Given the description of an element on the screen output the (x, y) to click on. 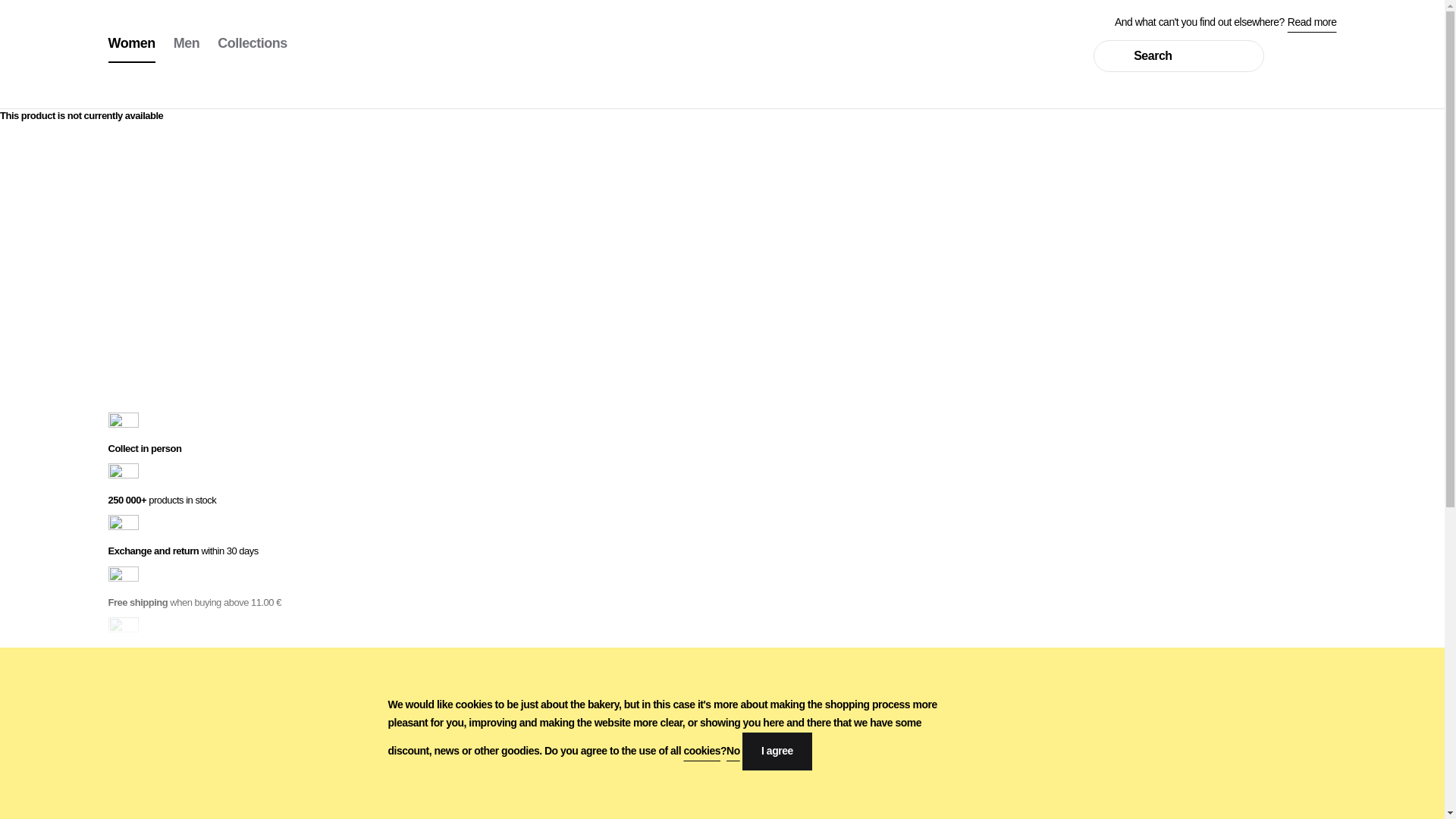
Collections (252, 43)
Frequently asked questions (177, 808)
Contact (138, 794)
Women (131, 43)
Materials and maintenance (176, 818)
Read more (1311, 21)
Search (1178, 56)
Men (186, 43)
